Given the description of an element on the screen output the (x, y) to click on. 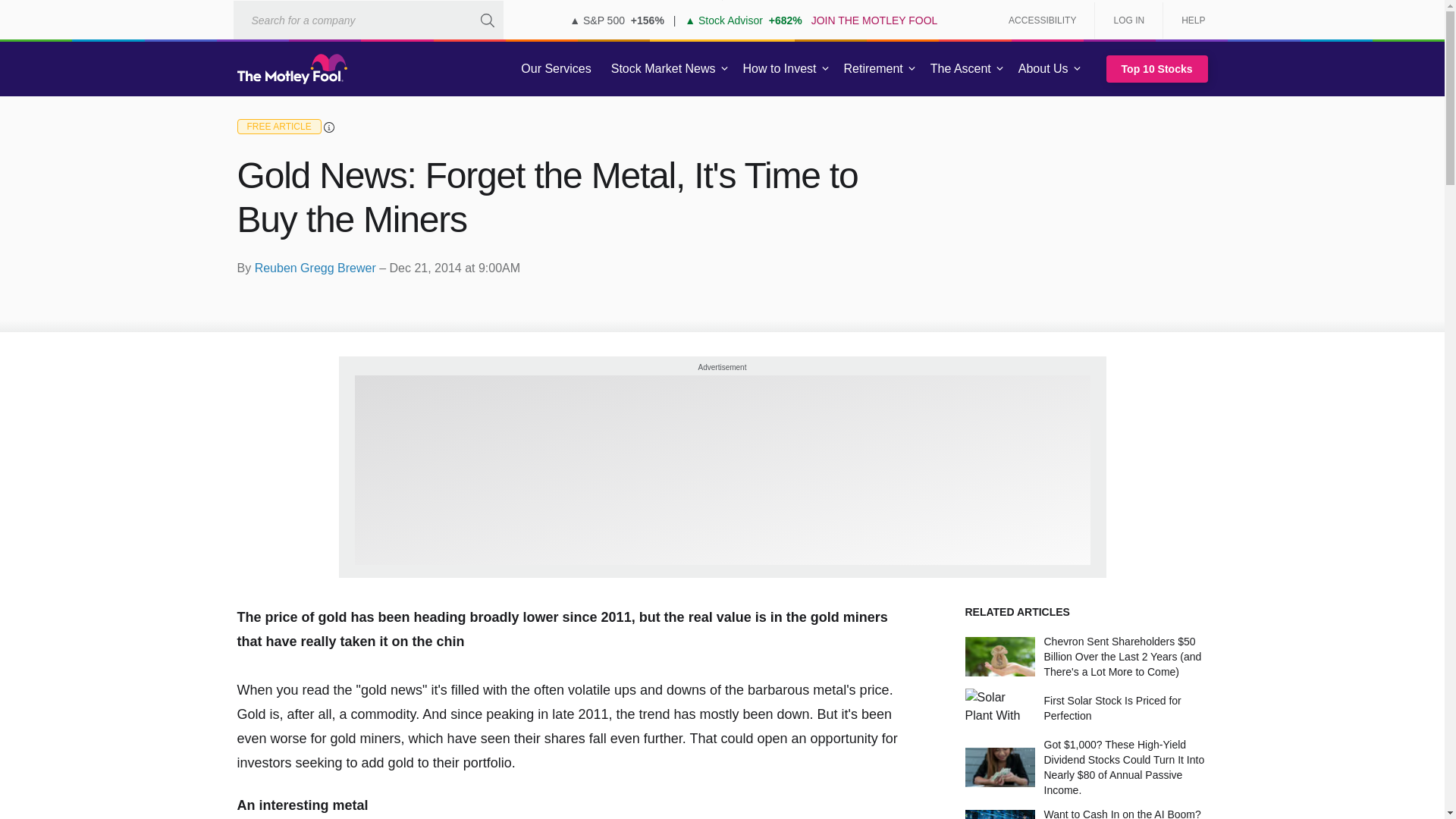
Stock Market News (662, 68)
LOG IN (1128, 19)
How to Invest (779, 68)
Our Services (555, 68)
HELP (1187, 19)
ACCESSIBILITY (1042, 19)
